Given the description of an element on the screen output the (x, y) to click on. 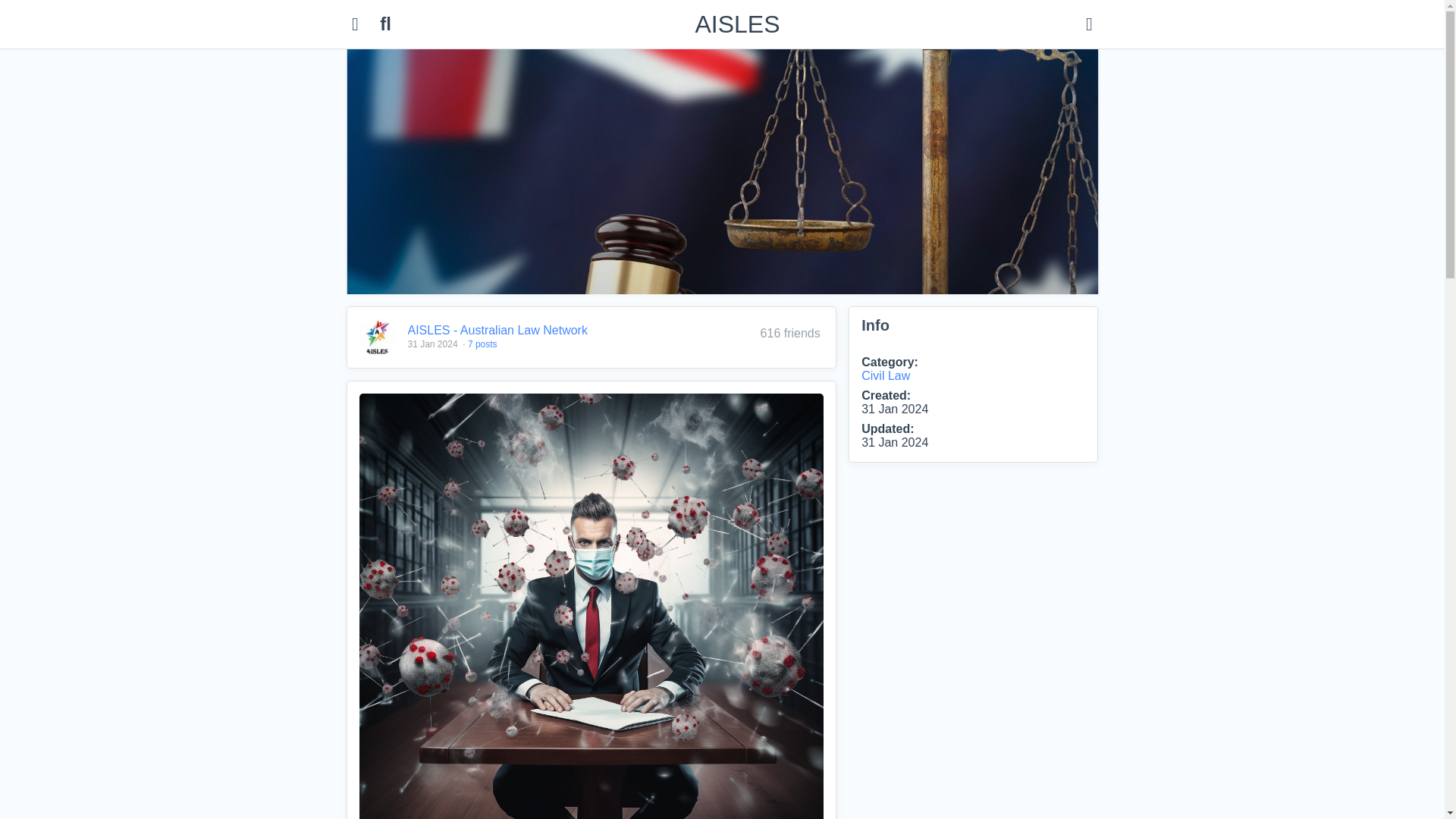
7 posts (482, 344)
AISLES (736, 23)
AISLES - Australian Law Network (377, 337)
Civil Law (885, 375)
AISLES - Australian Law Network (497, 329)
AISLES - Australian Law Network (497, 329)
AISLES (736, 23)
